Given the description of an element on the screen output the (x, y) to click on. 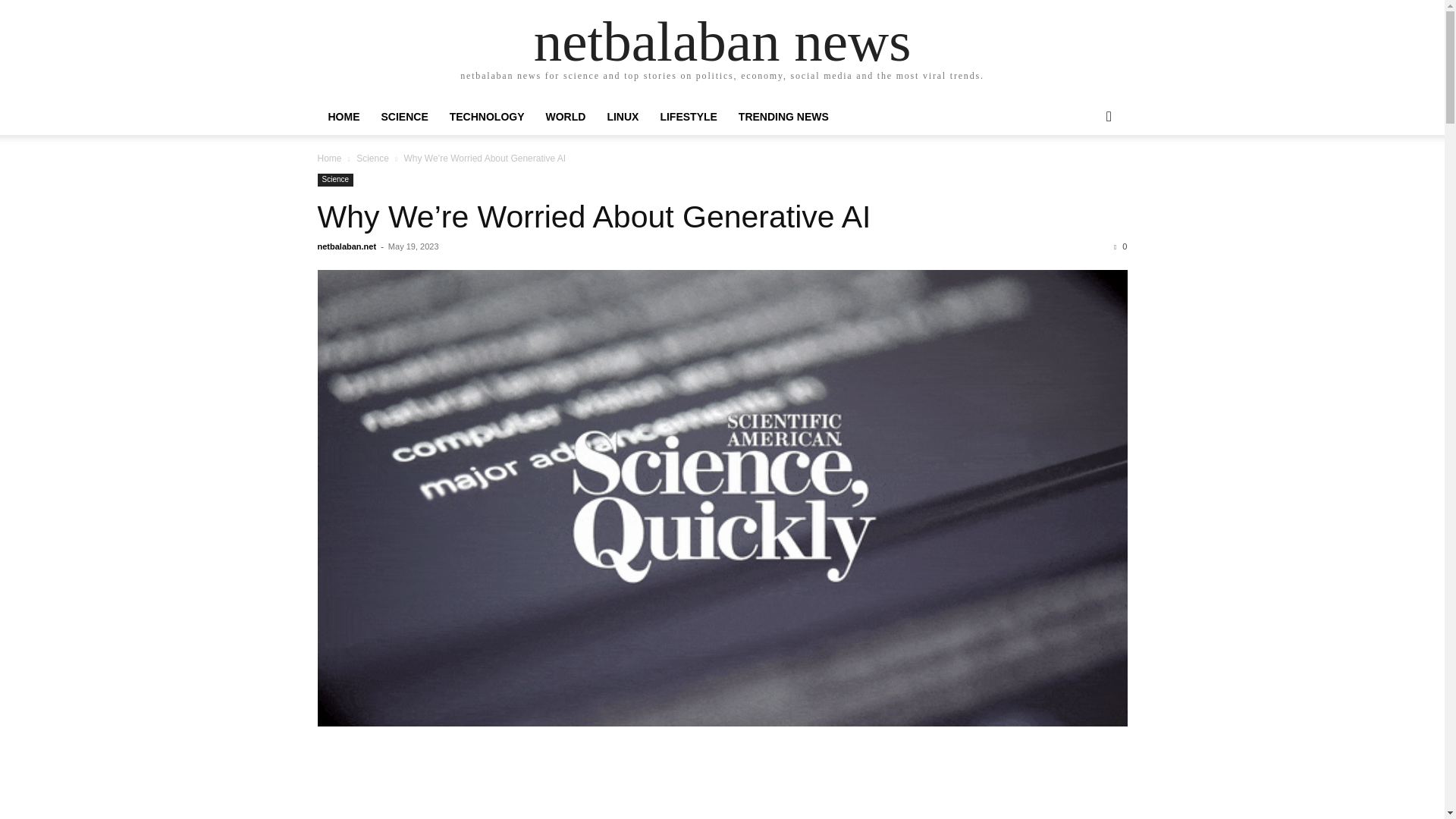
Science (335, 179)
0 (1119, 245)
netbalaban news (722, 41)
Science (372, 158)
TRENDING NEWS (784, 116)
Home (328, 158)
WORLD (565, 116)
SCIENCE (403, 116)
TECHNOLOGY (487, 116)
Search (1085, 177)
LINUX (622, 116)
netbalaban.net (346, 245)
View all posts in Science (372, 158)
HOME (343, 116)
LIFESTYLE (687, 116)
